Given the description of an element on the screen output the (x, y) to click on. 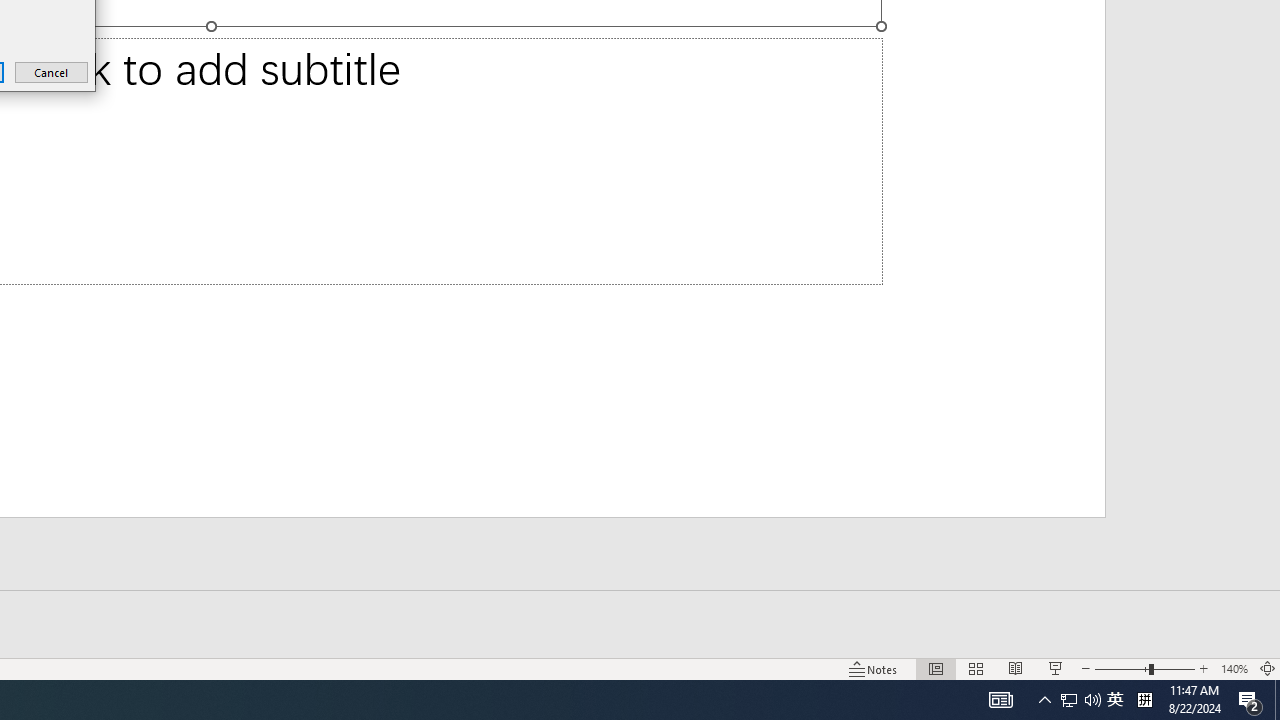
Zoom 140% (1234, 668)
